Given the description of an element on the screen output the (x, y) to click on. 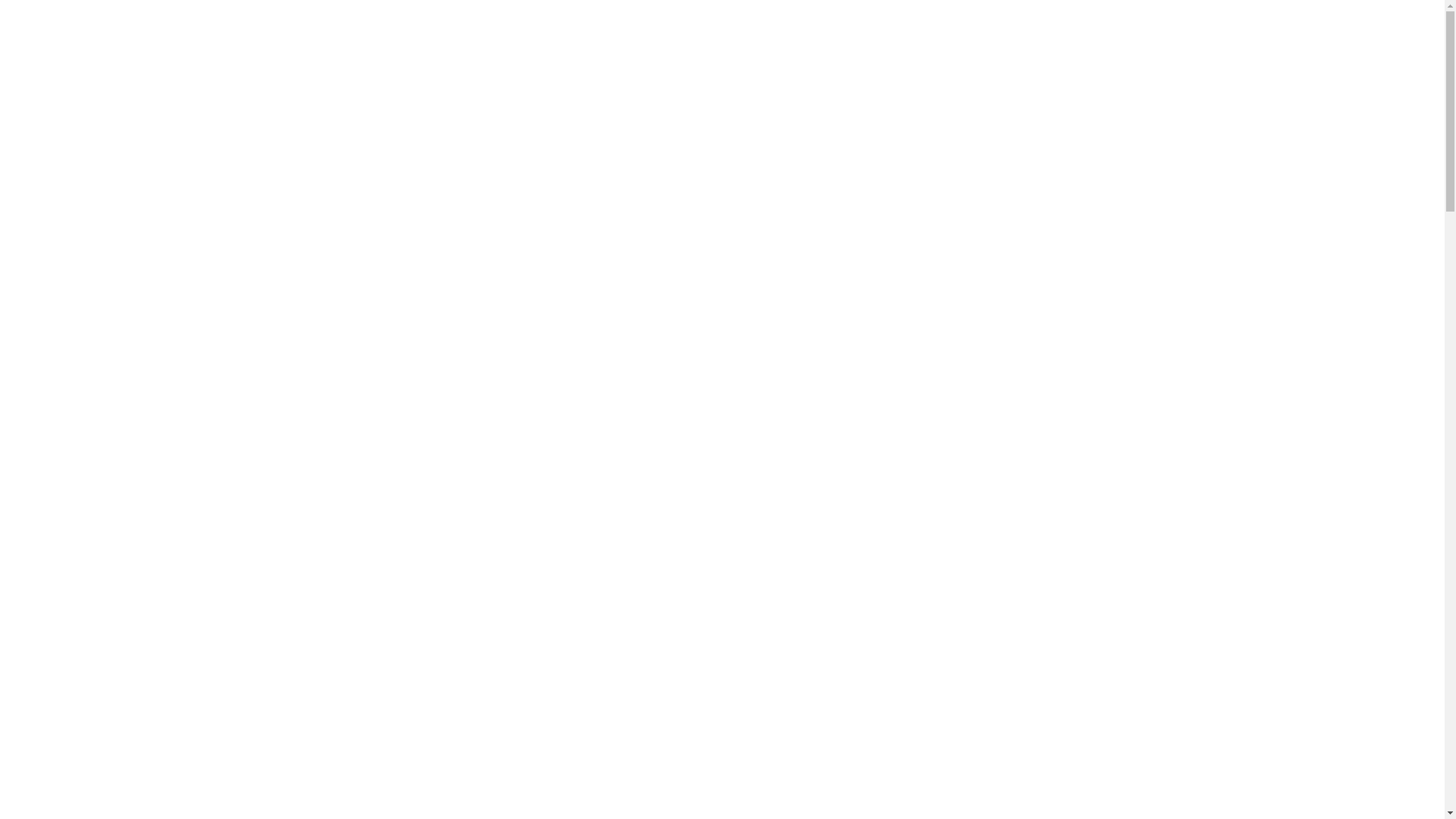
  Element type: text (539, 84)
+375447782929 Element type: text (530, 32)
+375297782929 Element type: text (845, 32)
